Given the description of an element on the screen output the (x, y) to click on. 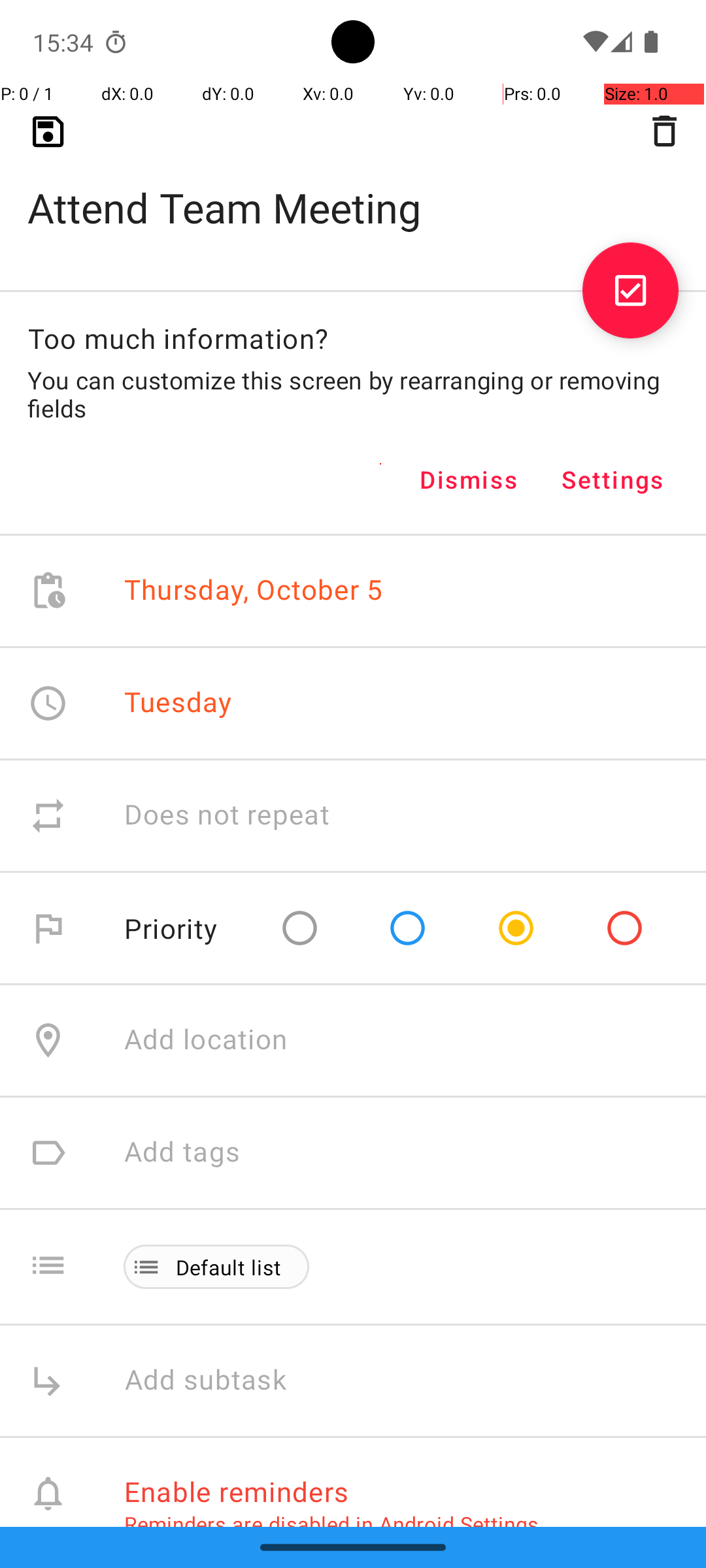
Thursday, October 5 Element type: android.widget.TextView (253, 590)
